Given the description of an element on the screen output the (x, y) to click on. 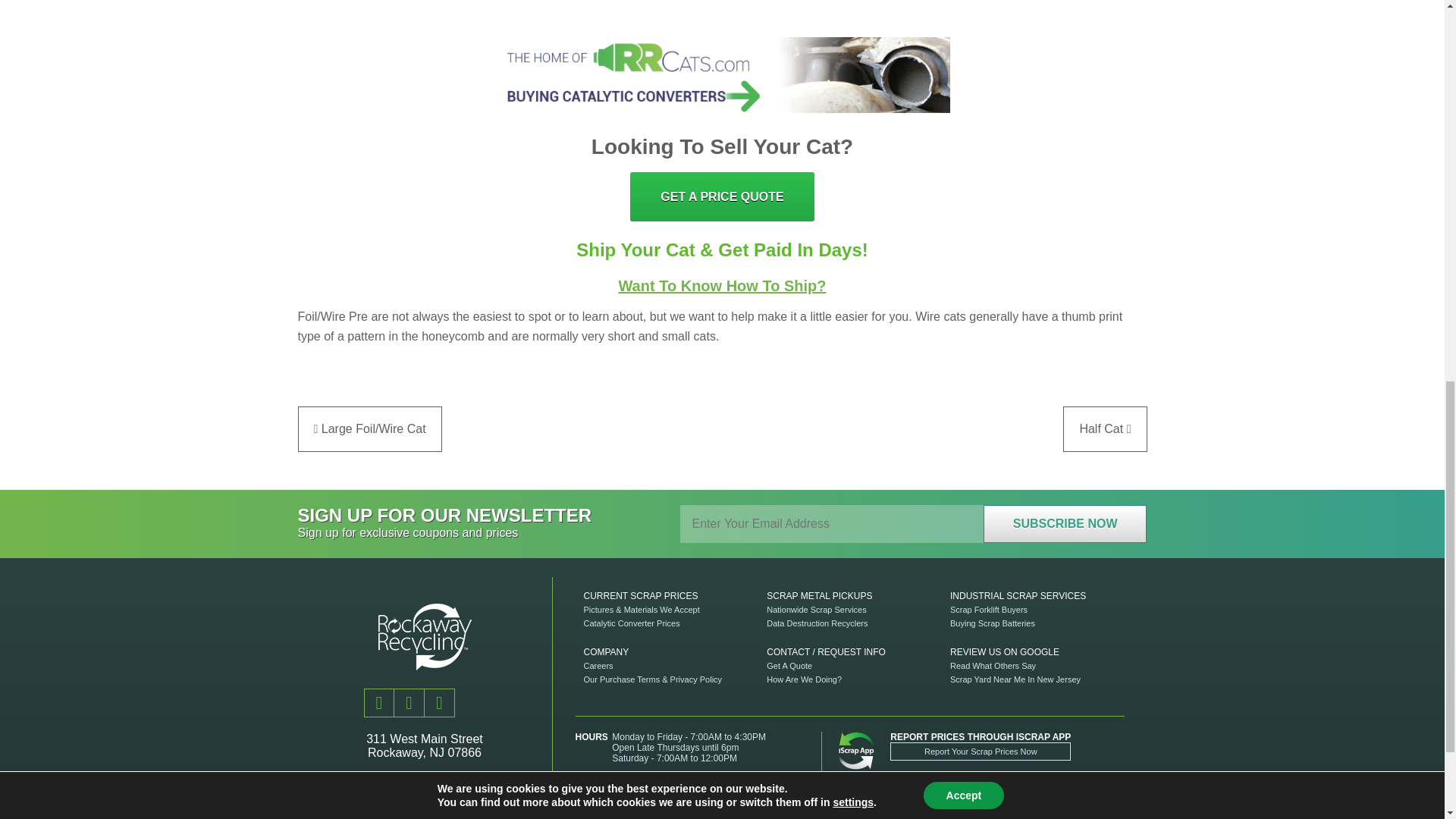
Scrap Yard Near Me In New Jersey (1015, 678)
Careers (597, 665)
Review Us on Google (1004, 652)
Nationwide Scrap Services (816, 609)
Read What Others Say (992, 665)
Scrap Metal Pickups In New Jersey (819, 595)
Catalytic Converter Scrap Prices (631, 623)
